Given the description of an element on the screen output the (x, y) to click on. 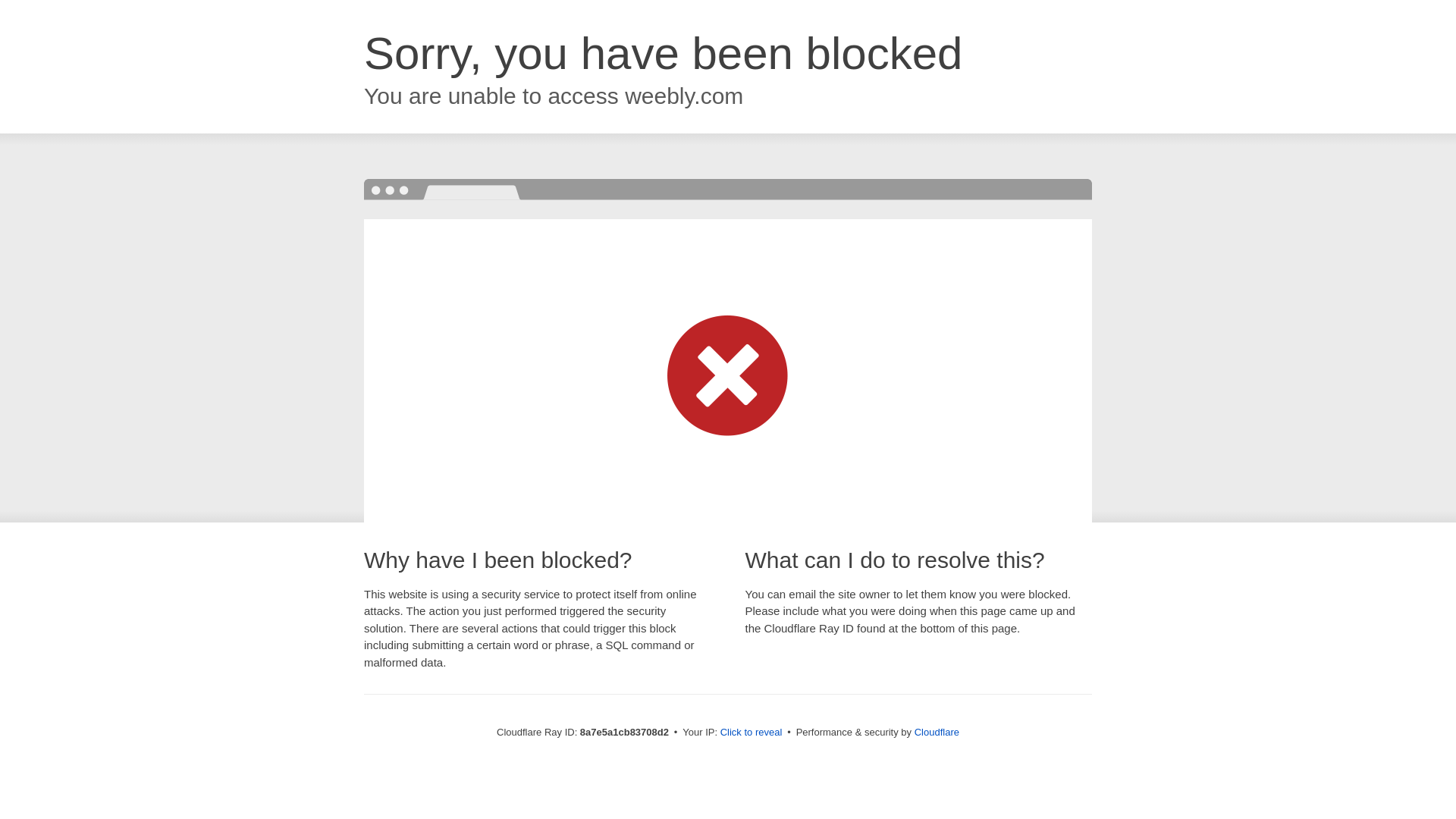
Cloudflare (936, 731)
Click to reveal (751, 732)
